Given the description of an element on the screen output the (x, y) to click on. 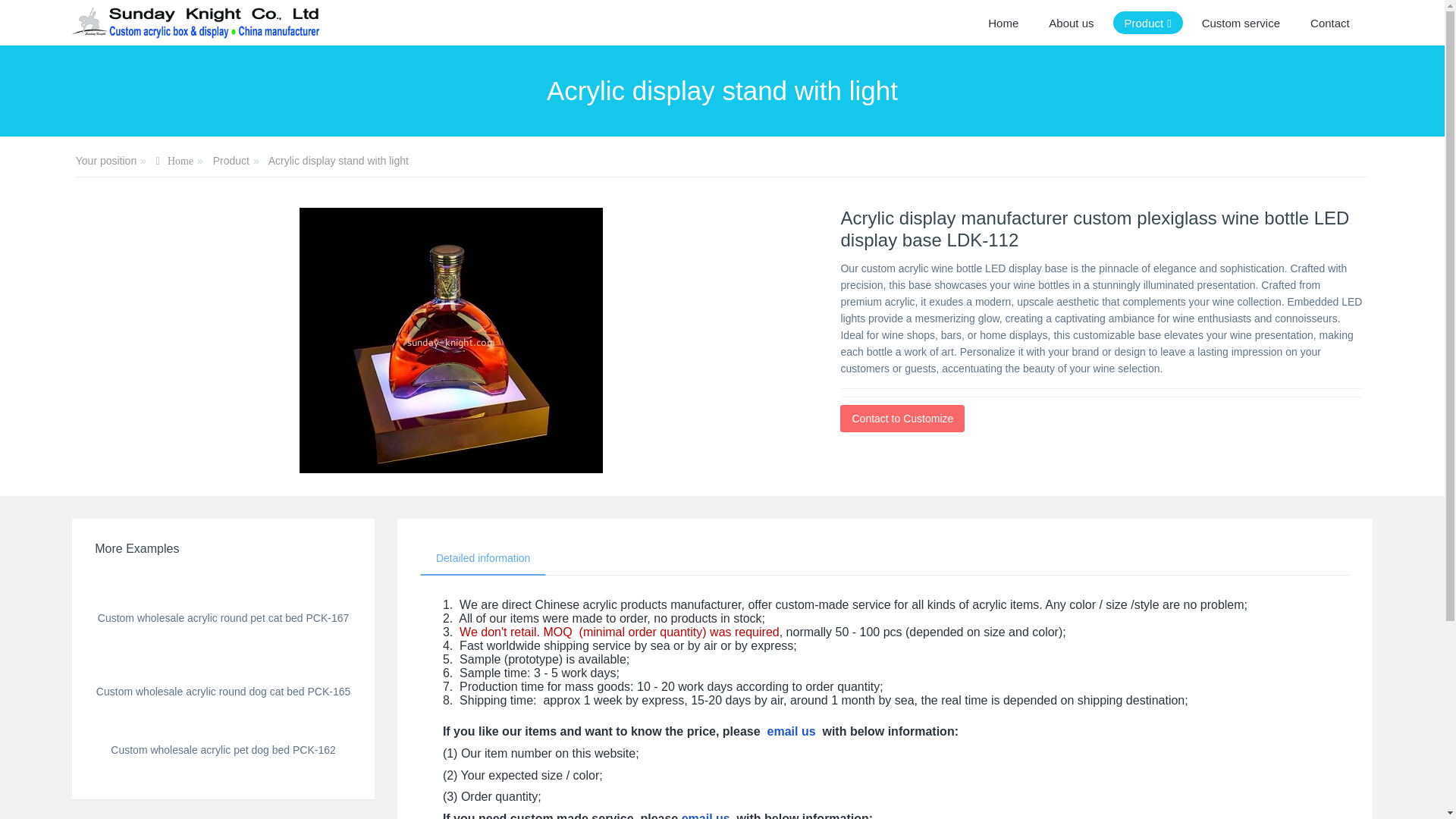
Home (1002, 22)
Contact to Customize (901, 418)
Home (174, 161)
About us (1070, 22)
Home (1002, 22)
Product (1147, 22)
Custom service (1241, 22)
Product (1147, 22)
Contact (1329, 22)
Acrylic display stand with light (338, 160)
